Given the description of an element on the screen output the (x, y) to click on. 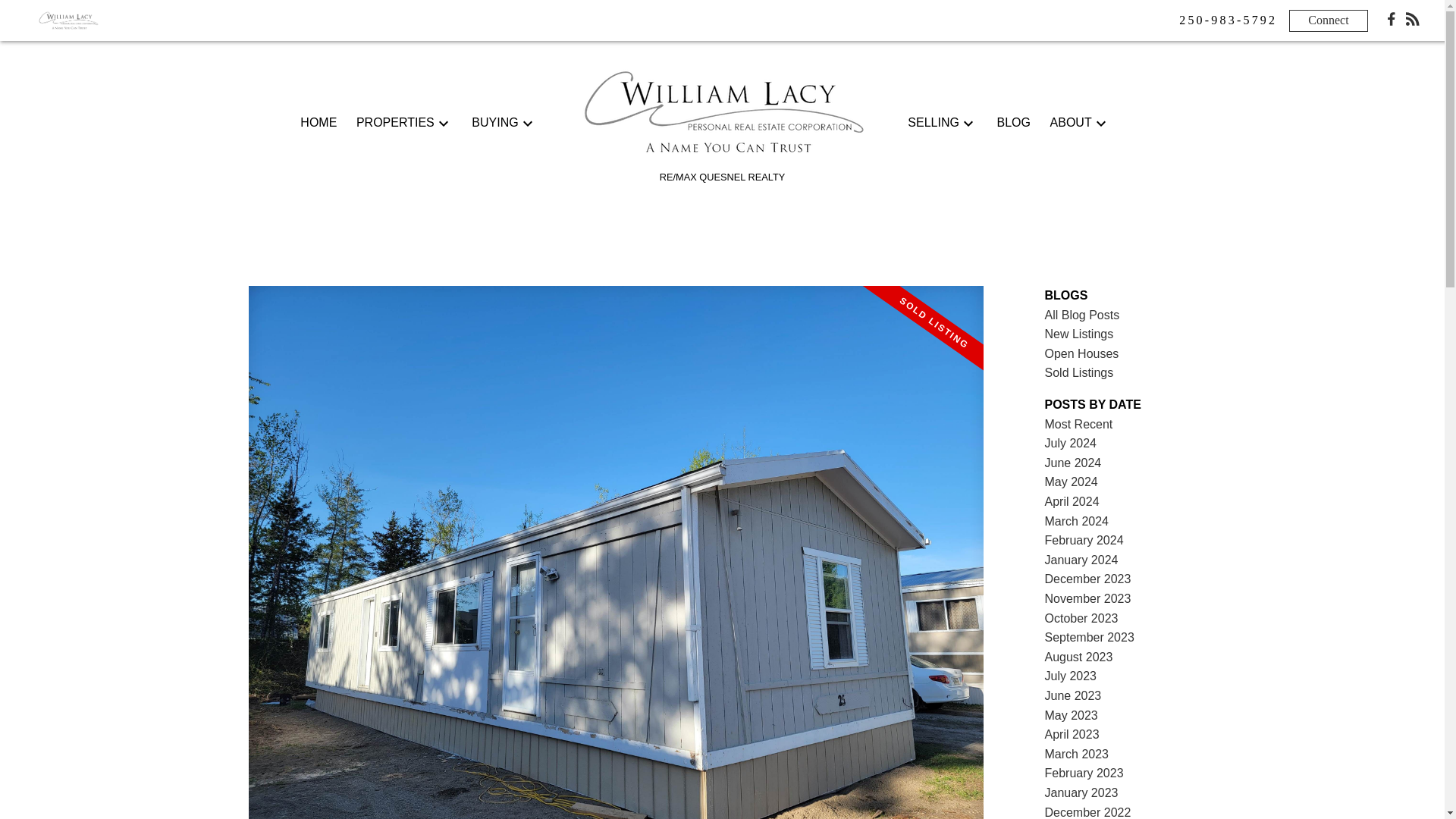
New Listings (1079, 333)
September 2023 (1089, 636)
BLOG (1012, 122)
January 2024 (1081, 559)
Sold Listings (1079, 372)
April 2024 (1072, 501)
November 2023 (1088, 598)
Most Recent (1079, 423)
May 2024 (1071, 481)
March 2024 (1077, 521)
Connect (1327, 20)
February 2024 (1084, 540)
December 2023 (1088, 578)
All Blog Posts (1082, 314)
June 2024 (1073, 462)
